Given the description of an element on the screen output the (x, y) to click on. 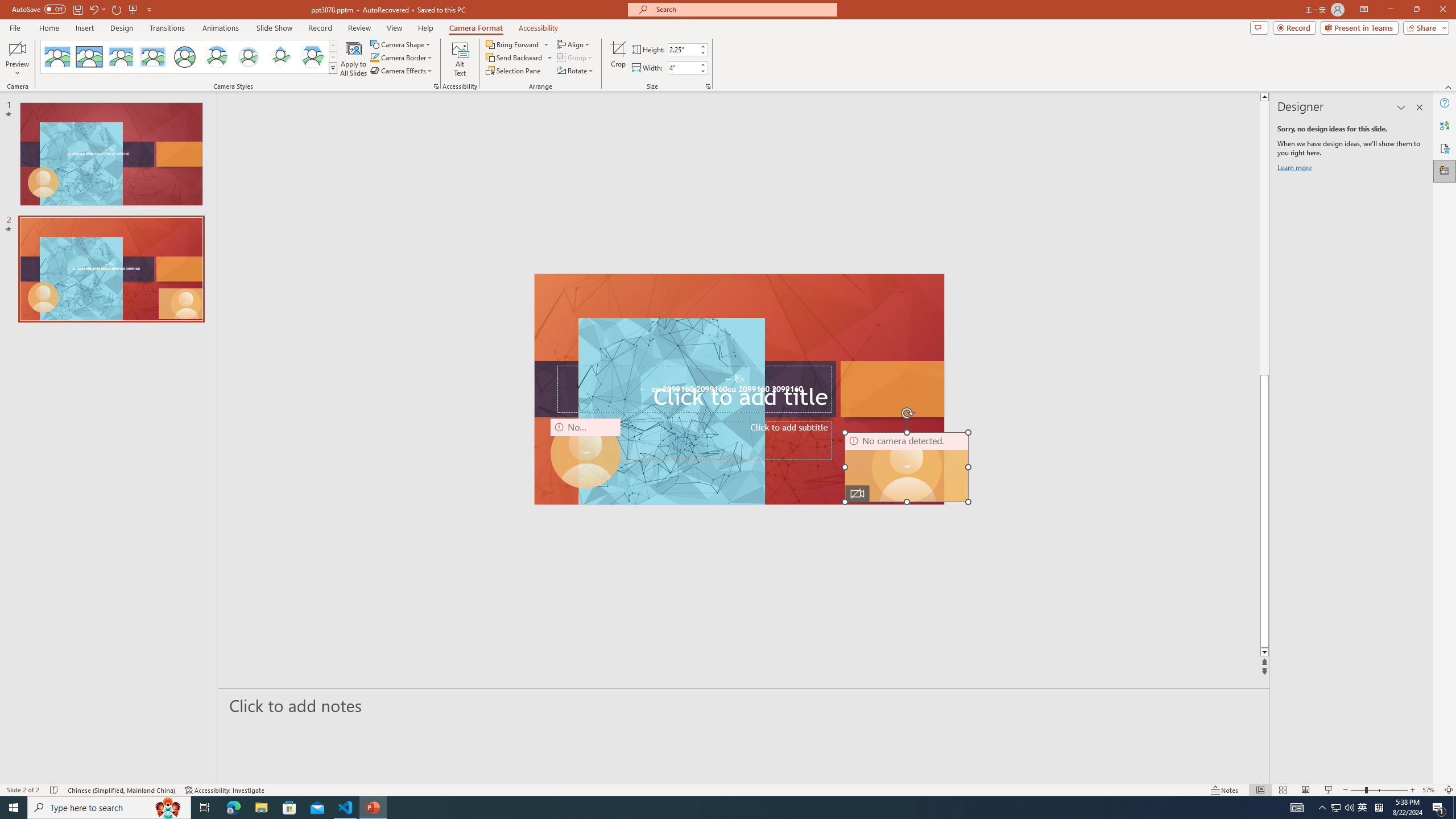
TextBox 7 (734, 379)
An abstract genetic concept (738, 389)
Zoom 57% (1430, 790)
Enable Camera Preview (17, 48)
Rotate (575, 69)
